Given the description of an element on the screen output the (x, y) to click on. 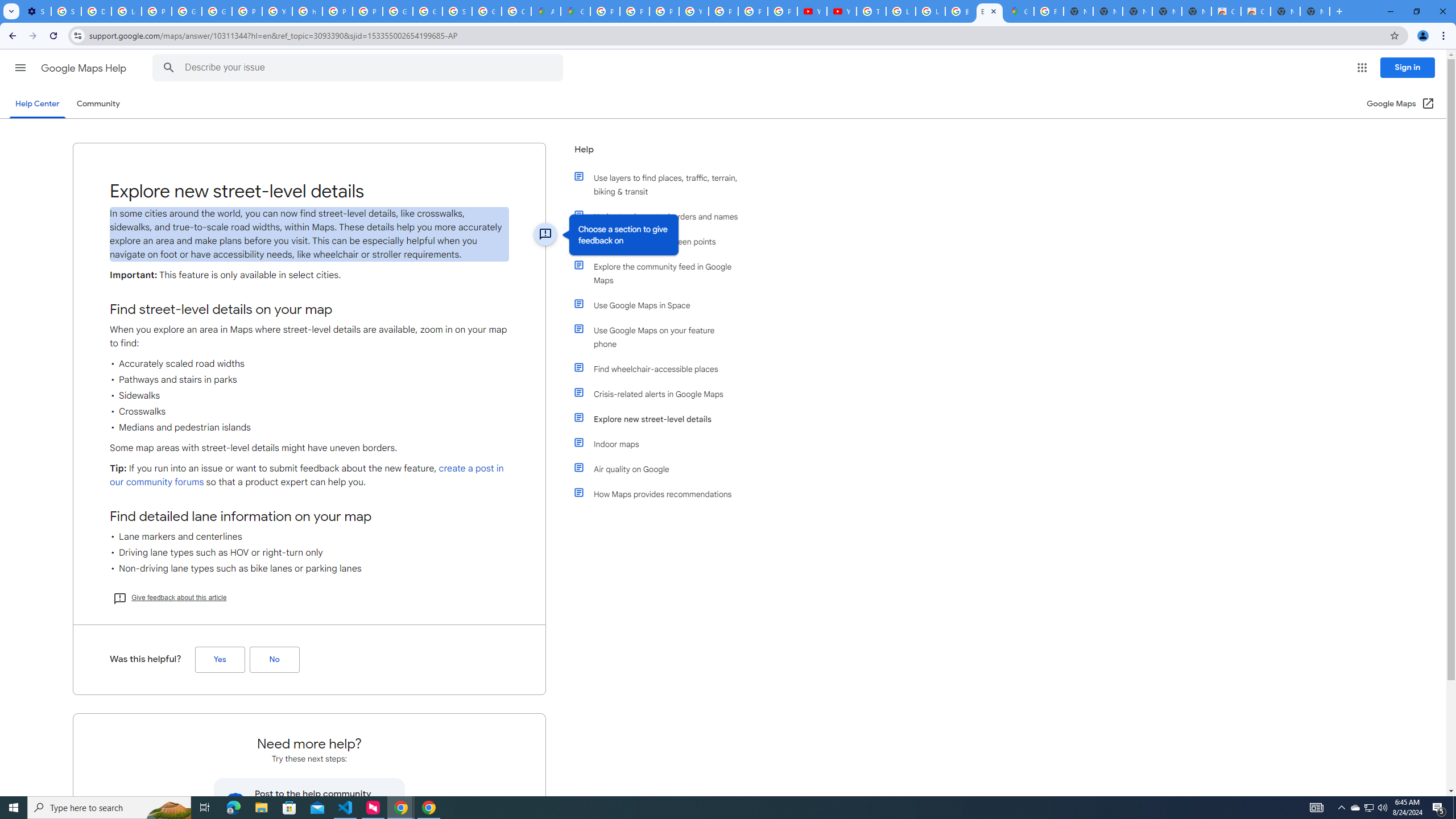
Sign in - Google Accounts (456, 11)
Medians and pedestrian islands (309, 427)
Give feedback about this article (169, 597)
Find street-level details on your map (309, 309)
